Given the description of an element on the screen output the (x, y) to click on. 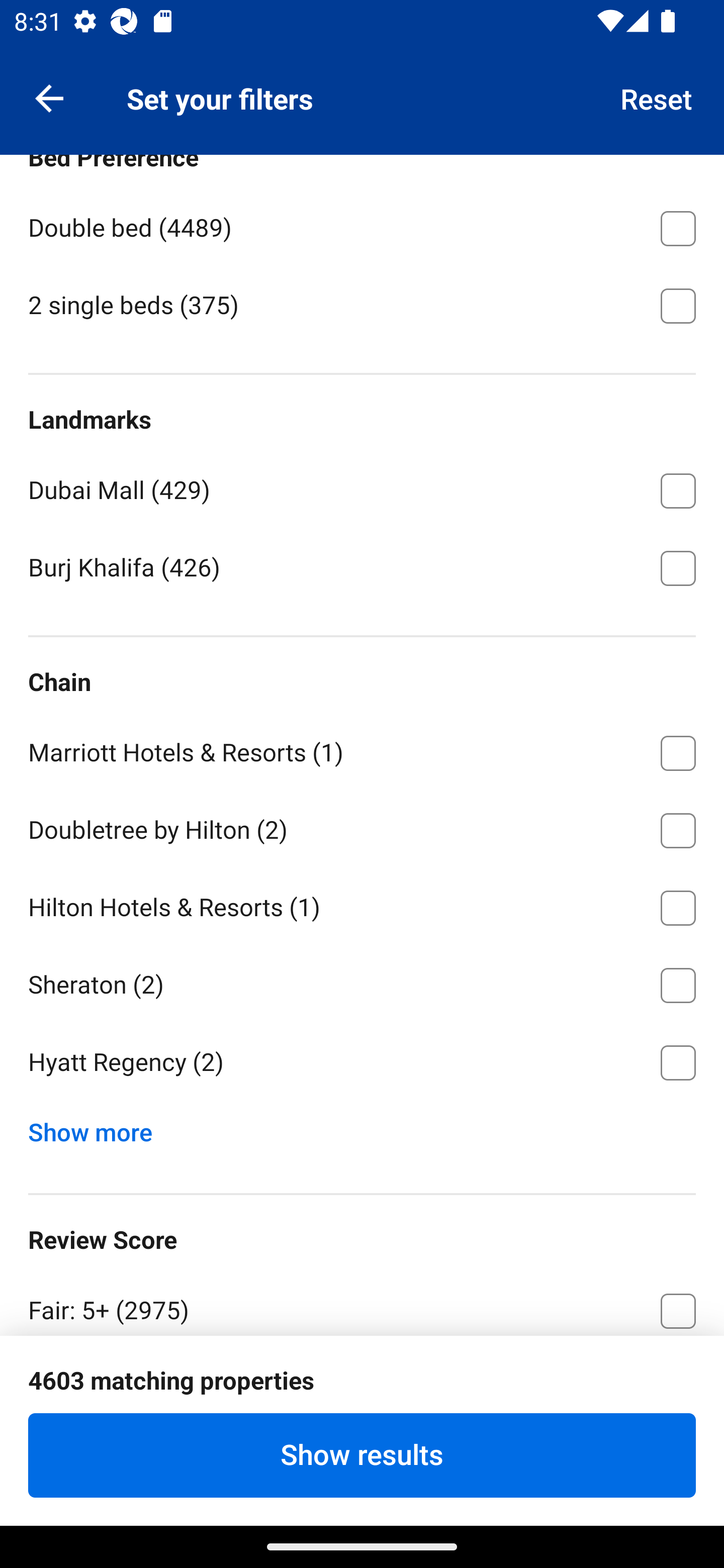
Navigate up (49, 97)
Reset (656, 97)
Double bed ⁦(4489) (361, 224)
2 single beds ⁦(375) (361, 303)
Dubai Mall ⁦(429) (361, 487)
Burj Khalifa ⁦(426) (361, 566)
Marriott Hotels & Resorts ⁦(1) (361, 749)
Doubletree by Hilton ⁦(2) (361, 826)
Hilton Hotels & Resorts ⁦(1) (361, 904)
Sheraton ⁦(2) (361, 981)
Hyatt Regency ⁦(2) (361, 1062)
Show more (97, 1128)
Fair: 5+ ⁦(2975) (361, 1301)
Pleasant: 6+ ⁦(2795) (361, 1384)
Show results (361, 1454)
